Given the description of an element on the screen output the (x, y) to click on. 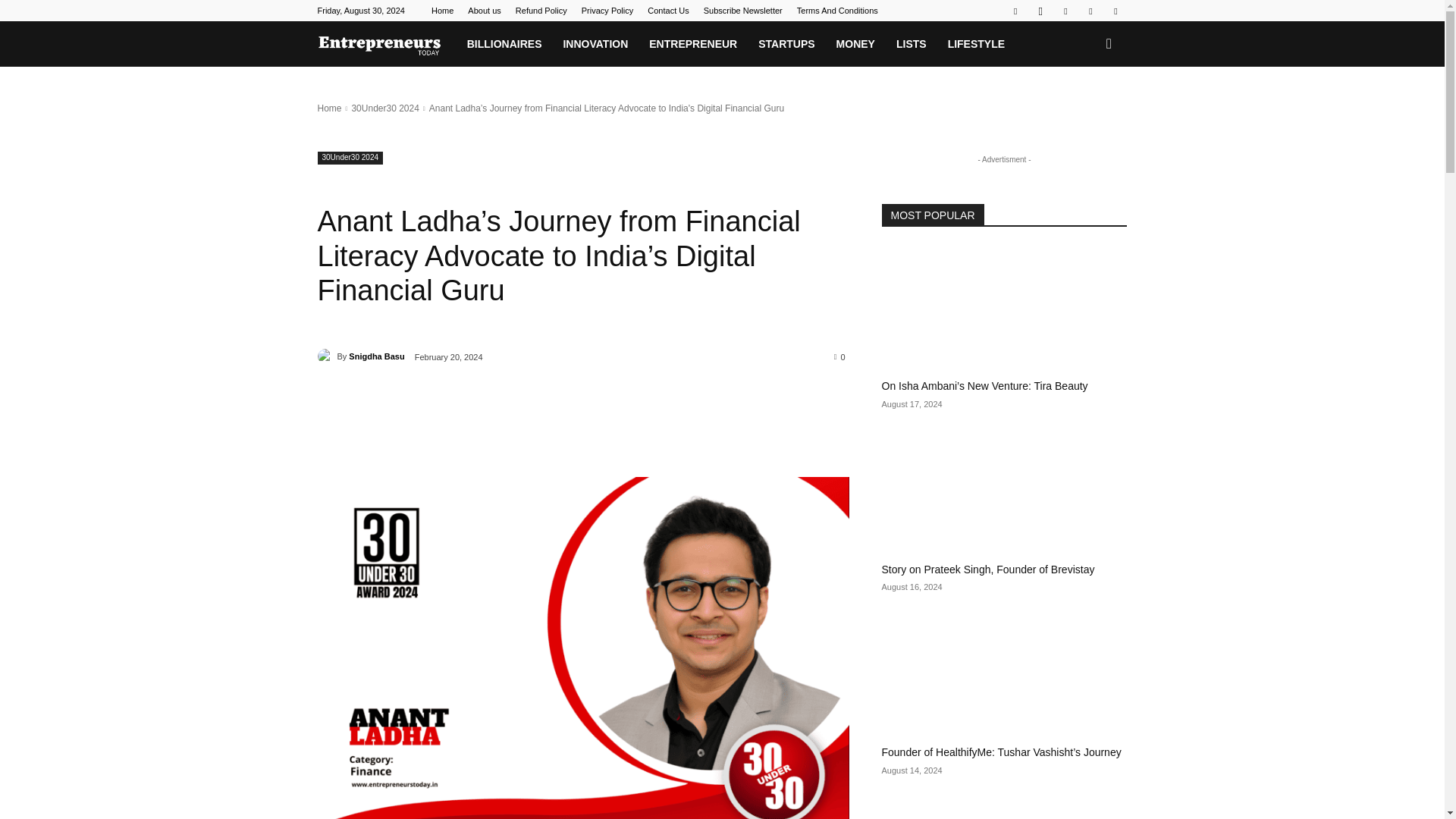
Privacy Policy (606, 10)
Twitter (1114, 10)
About us (483, 10)
Mail (1090, 10)
Instagram (1040, 10)
Facebook (1015, 10)
Contact Us (667, 10)
Refund Policy (541, 10)
Subscribe Newsletter (743, 10)
Home (441, 10)
